Given the description of an element on the screen output the (x, y) to click on. 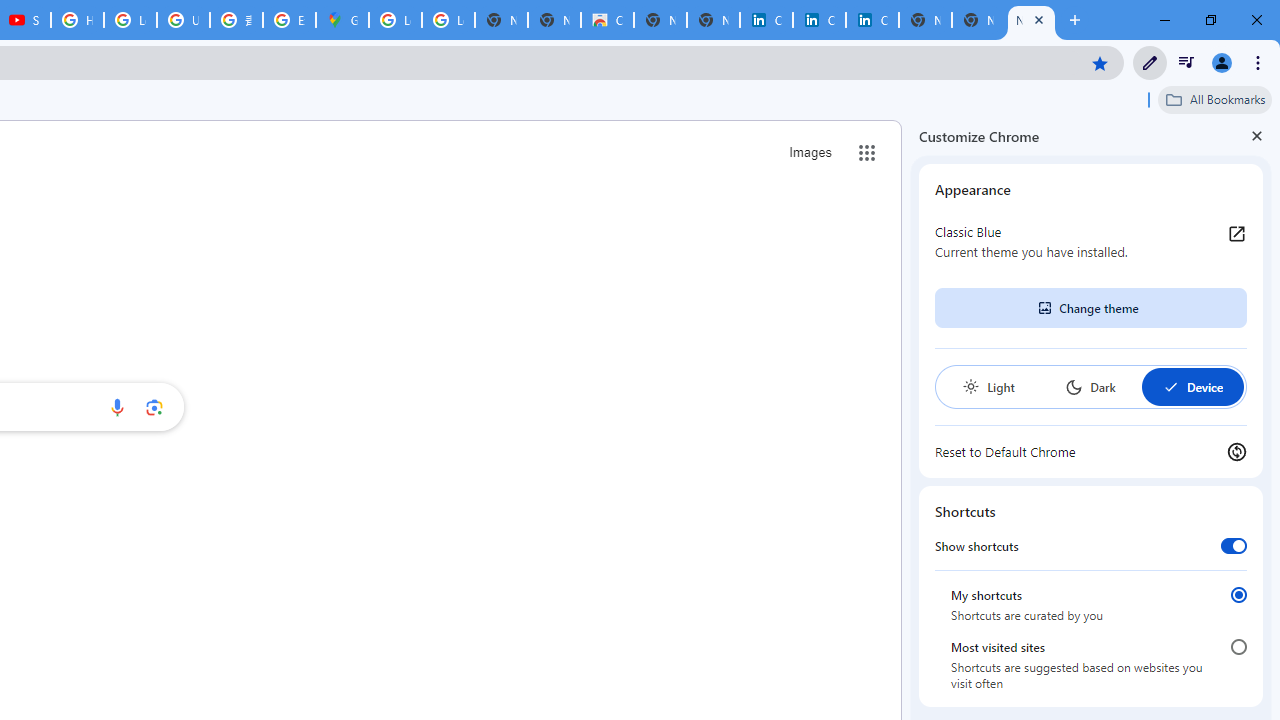
Light (988, 386)
Explore new street-level details - Google Maps Help (289, 20)
Cookie Policy | LinkedIn (766, 20)
Classic Blue Current theme you have installed. (1091, 241)
Change theme (1090, 308)
Copyright Policy (872, 20)
Device (1192, 386)
